Given the description of an element on the screen output the (x, y) to click on. 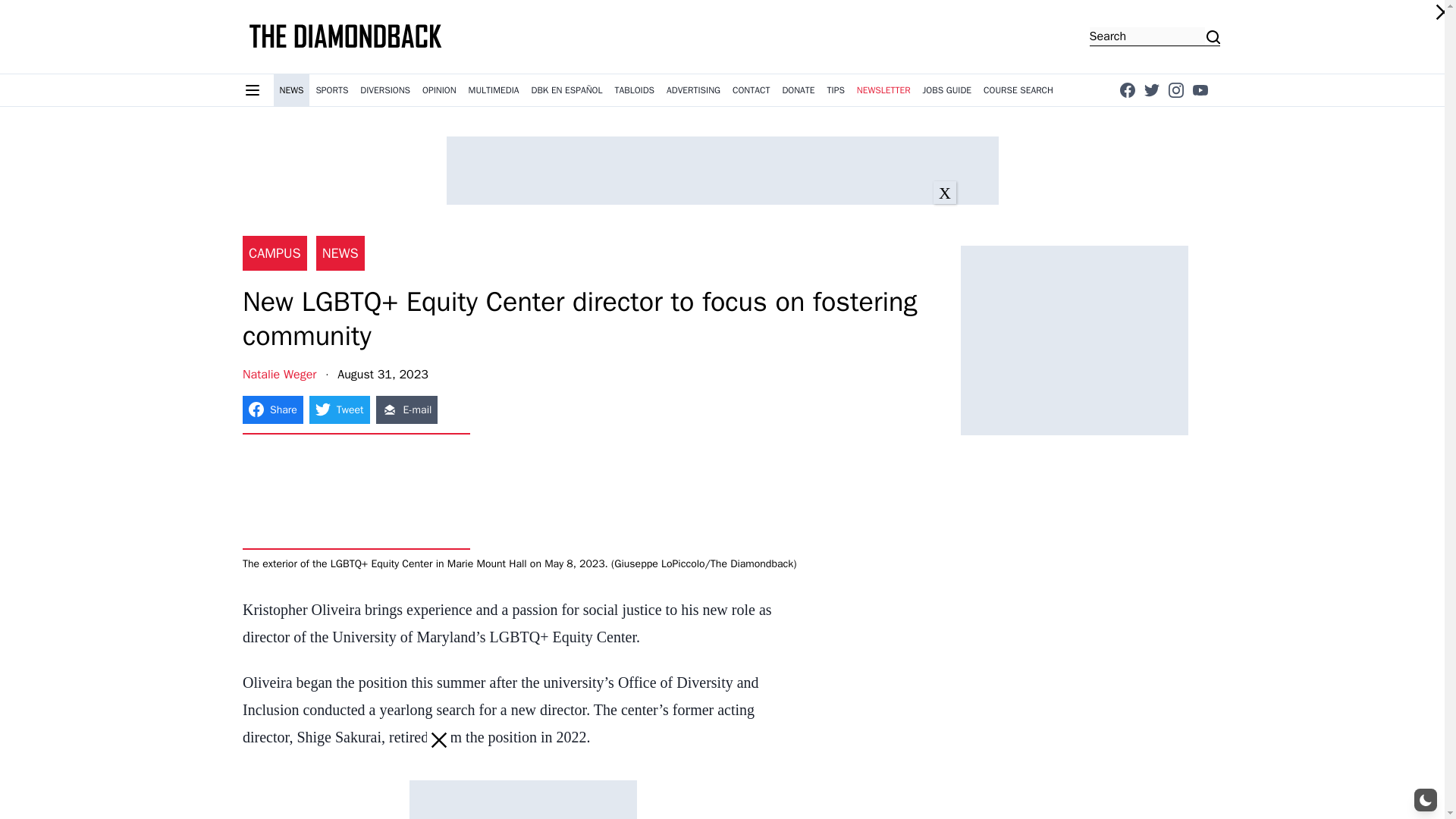
SPORTS (330, 90)
MULTIMEDIA (494, 90)
NEWS (290, 90)
The Diamondback (345, 36)
Multimedia (494, 90)
Diversions (384, 90)
NEWSLETTER (883, 90)
TIPS (835, 90)
Tabloids (634, 90)
ADVERTISING (693, 90)
